Given the description of an element on the screen output the (x, y) to click on. 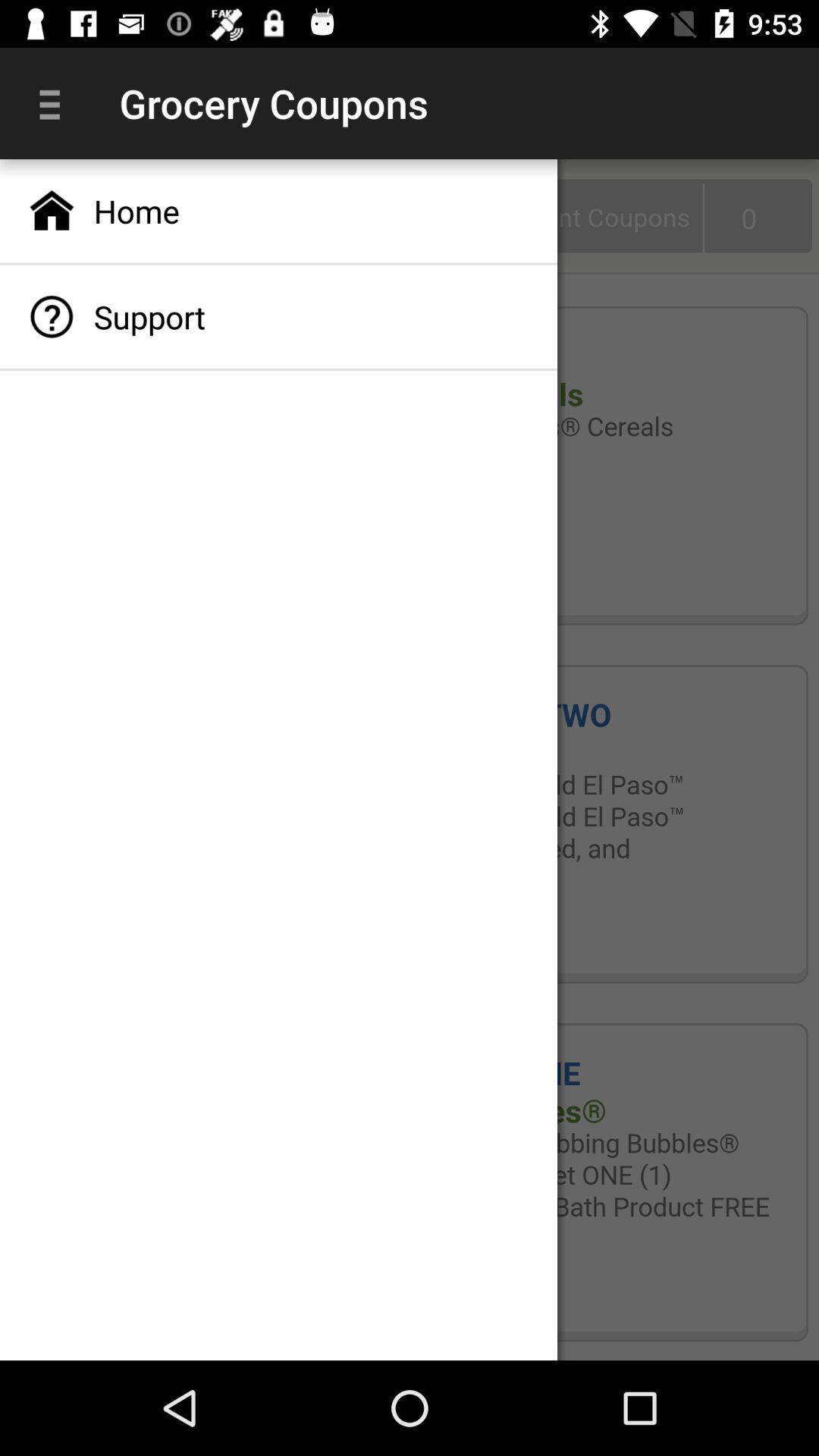
turn off item below home icon (278, 316)
